Given the description of an element on the screen output the (x, y) to click on. 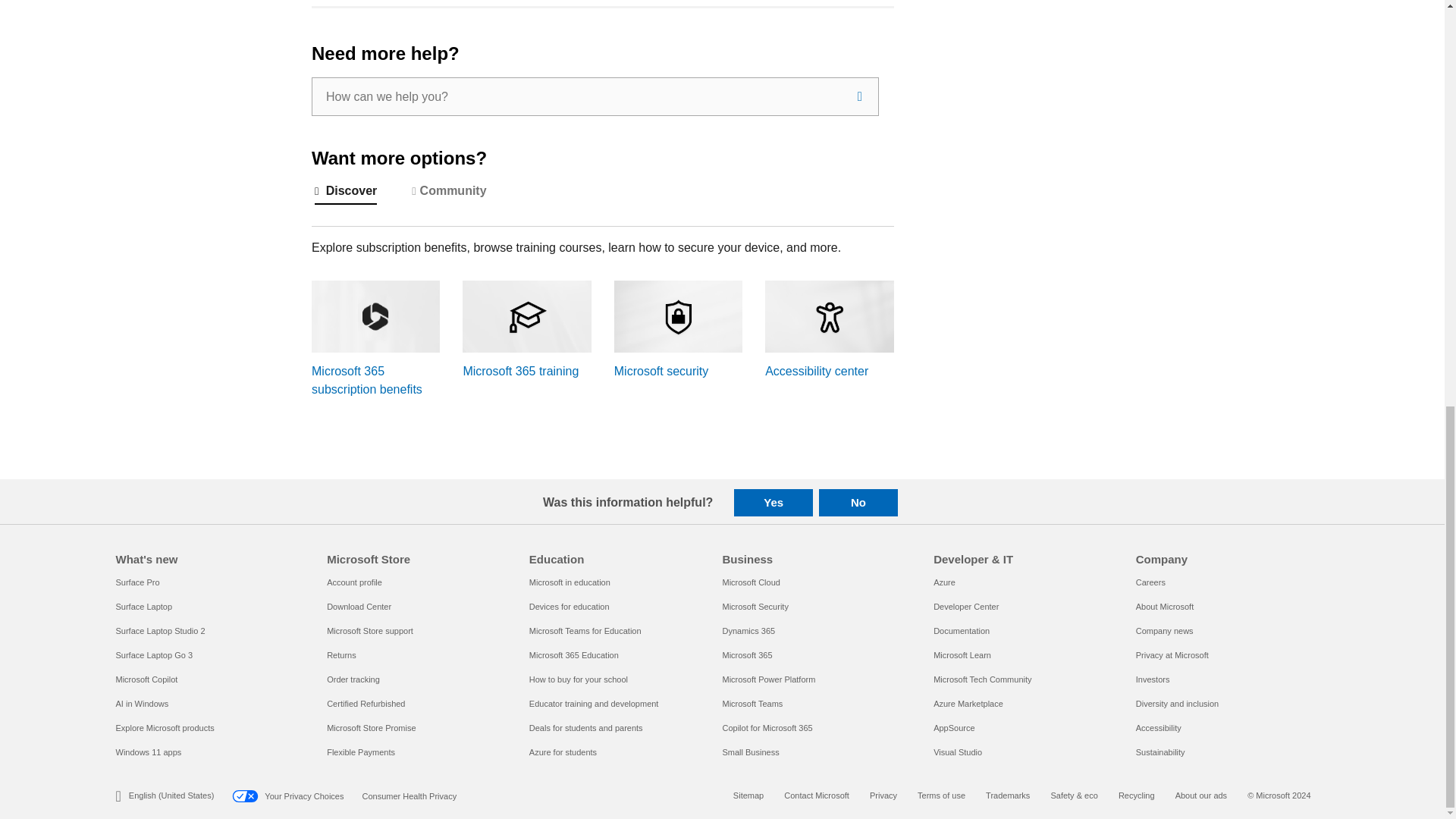
Search (860, 96)
